Given the description of an element on the screen output the (x, y) to click on. 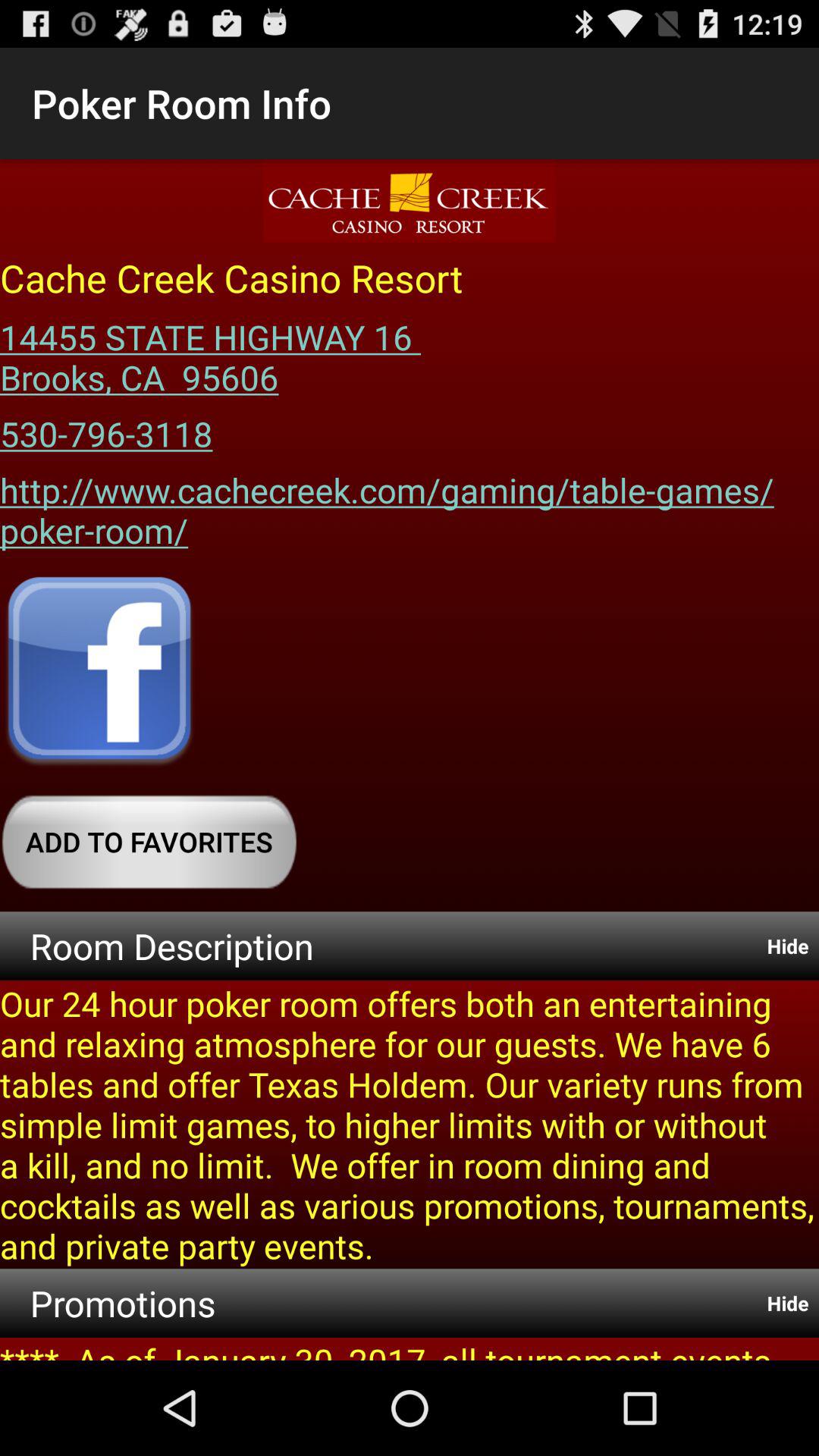
flip until the add to favorites icon (149, 841)
